Given the description of an element on the screen output the (x, y) to click on. 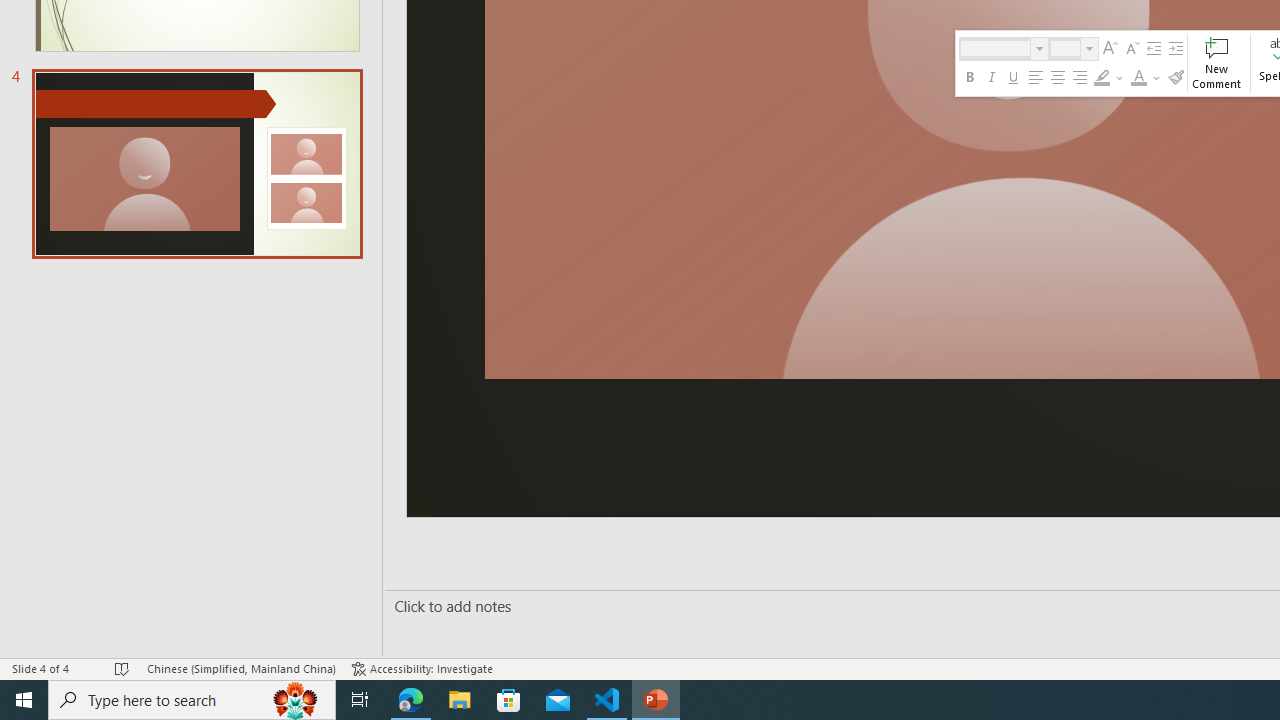
Class: NetUIComboboxAnchor (1074, 48)
